Given the description of an element on the screen output the (x, y) to click on. 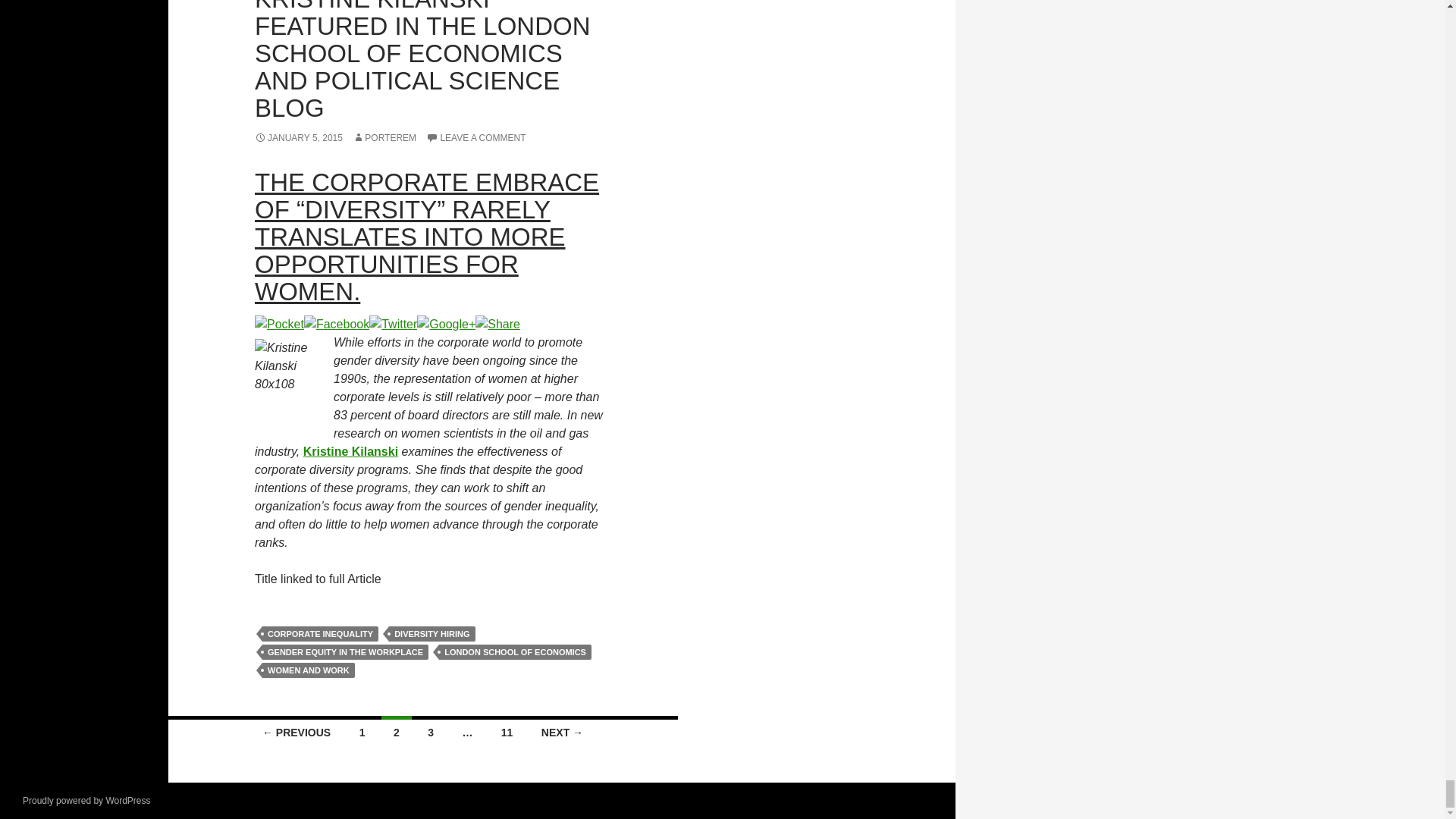
Facebook (336, 323)
Twitter (392, 323)
Pocket (279, 323)
